Given the description of an element on the screen output the (x, y) to click on. 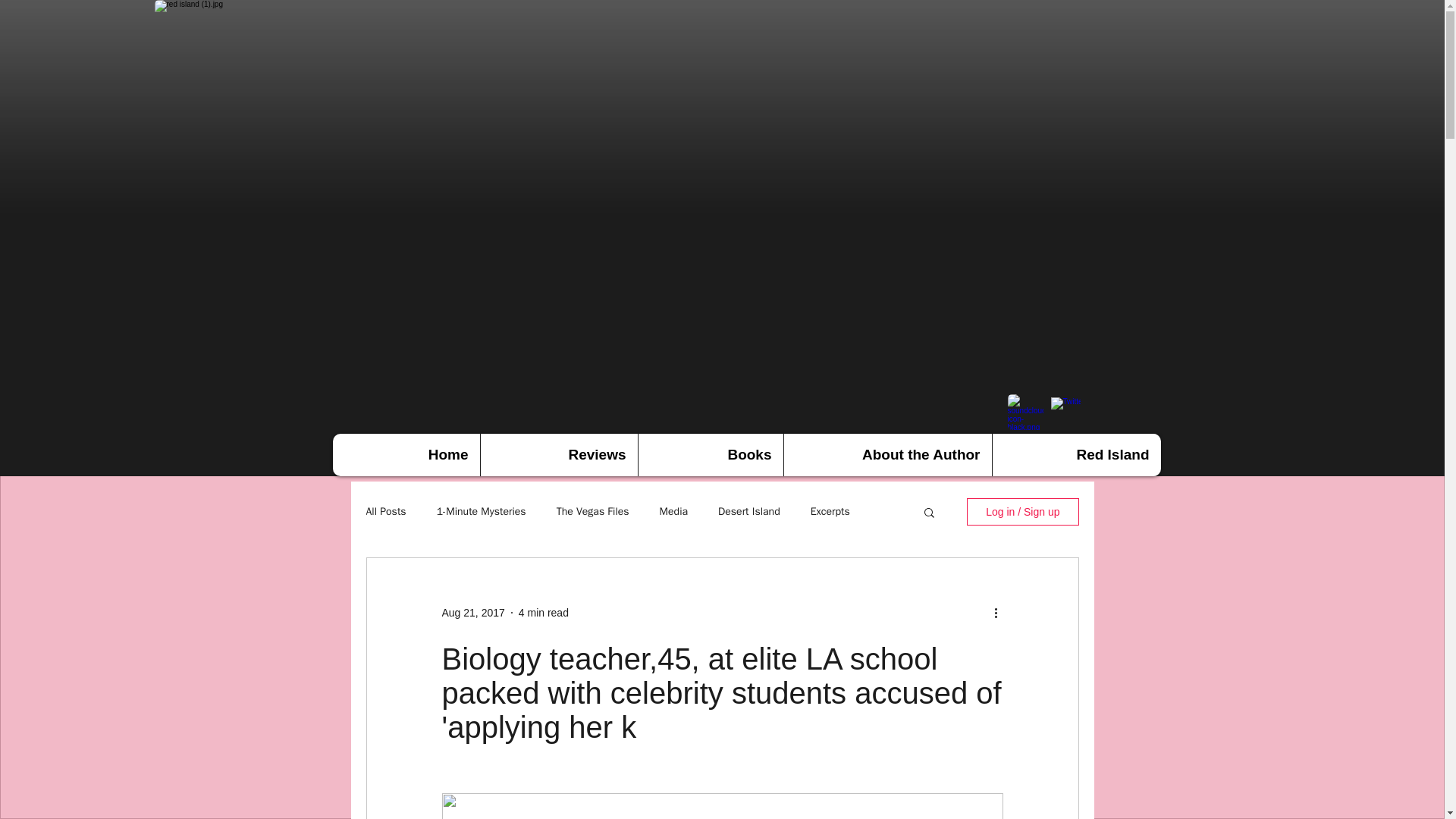
Reviews (558, 454)
Media (673, 511)
1-Minute Mysteries (480, 511)
Excerpts (830, 511)
4 min read (543, 612)
The Vegas Files (592, 511)
Home (405, 454)
About the Author (887, 454)
Aug 21, 2017 (472, 612)
Red Island (1075, 454)
Desert Island (748, 511)
All Posts (385, 511)
Books (710, 454)
